Given the description of an element on the screen output the (x, y) to click on. 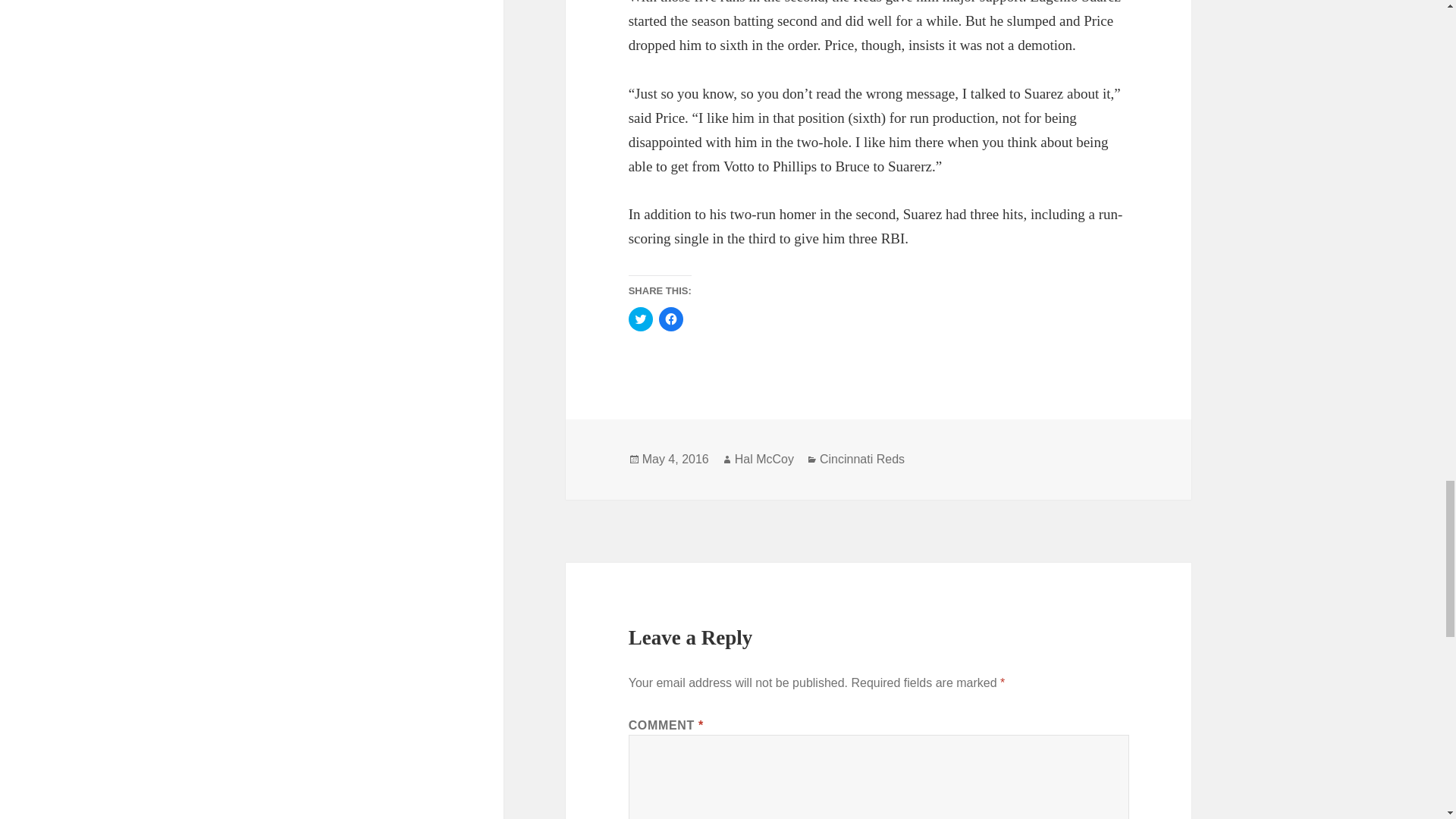
Click to share on Facebook (670, 319)
May 4, 2016 (675, 459)
Hal McCoy (764, 459)
Click to share on Twitter (640, 319)
Cincinnati Reds (861, 459)
